Given the description of an element on the screen output the (x, y) to click on. 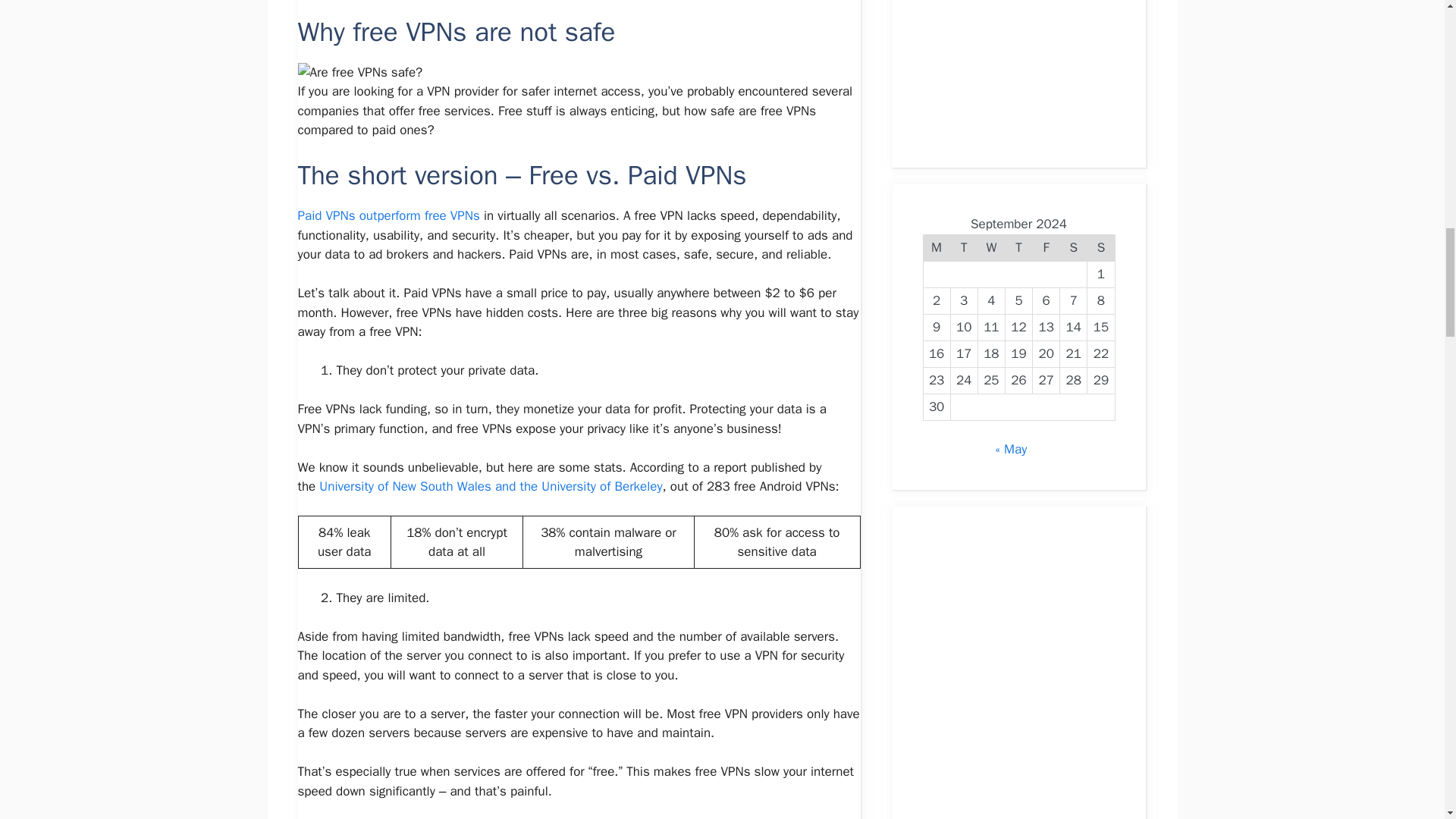
Thursday (1018, 247)
Saturday (1073, 247)
Friday (1045, 247)
Wednesday (990, 247)
Advertisement (1007, 68)
Tuesday (963, 247)
Sunday (1101, 247)
Monday (936, 247)
